Given the description of an element on the screen output the (x, y) to click on. 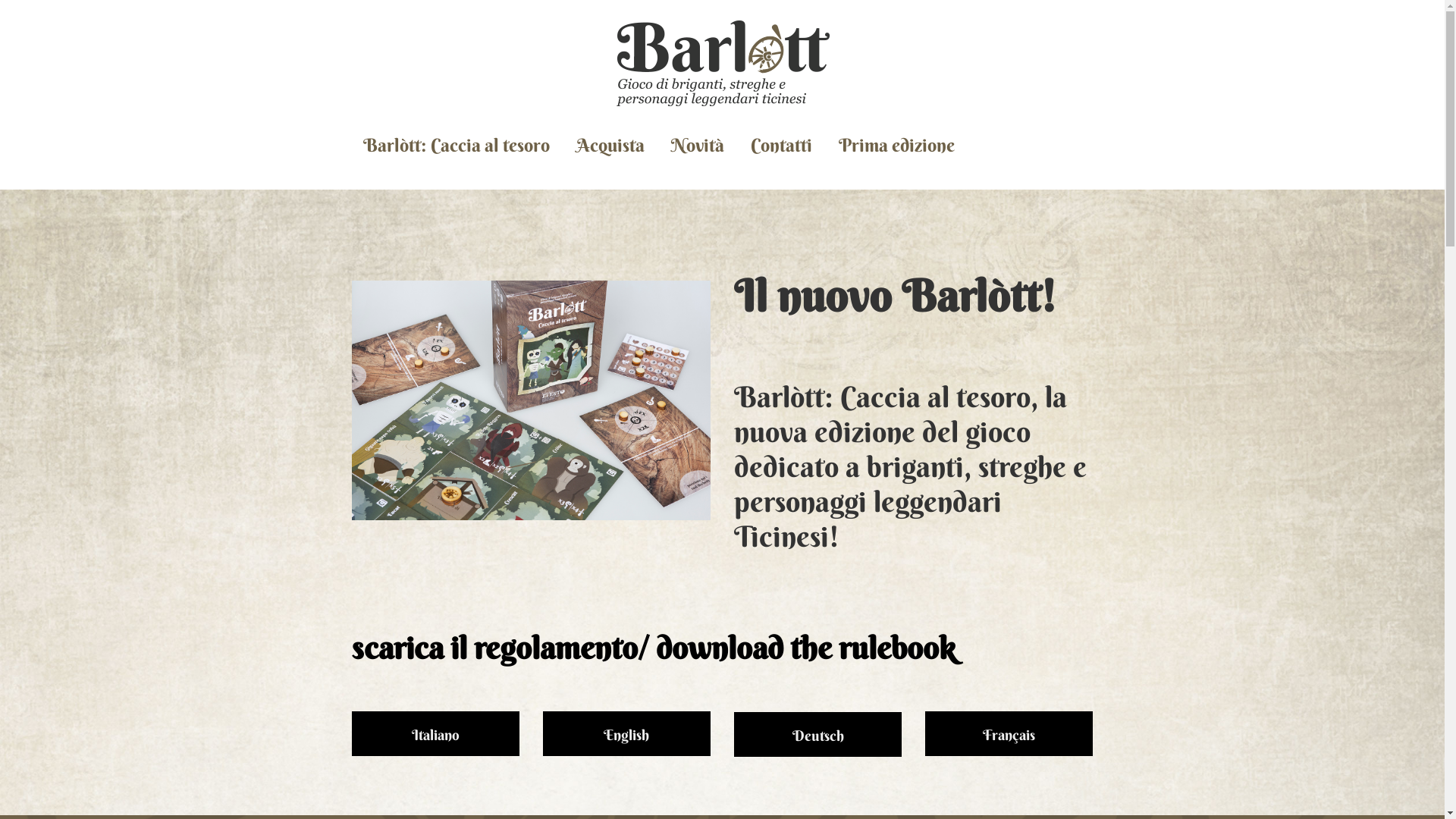
Italiano Element type: text (435, 733)
Acquista Element type: text (609, 145)
Contatti Element type: text (780, 145)
Prima edizione Element type: text (895, 145)
English Element type: text (626, 733)
Deutsch Element type: text (817, 734)
